Given the description of an element on the screen output the (x, y) to click on. 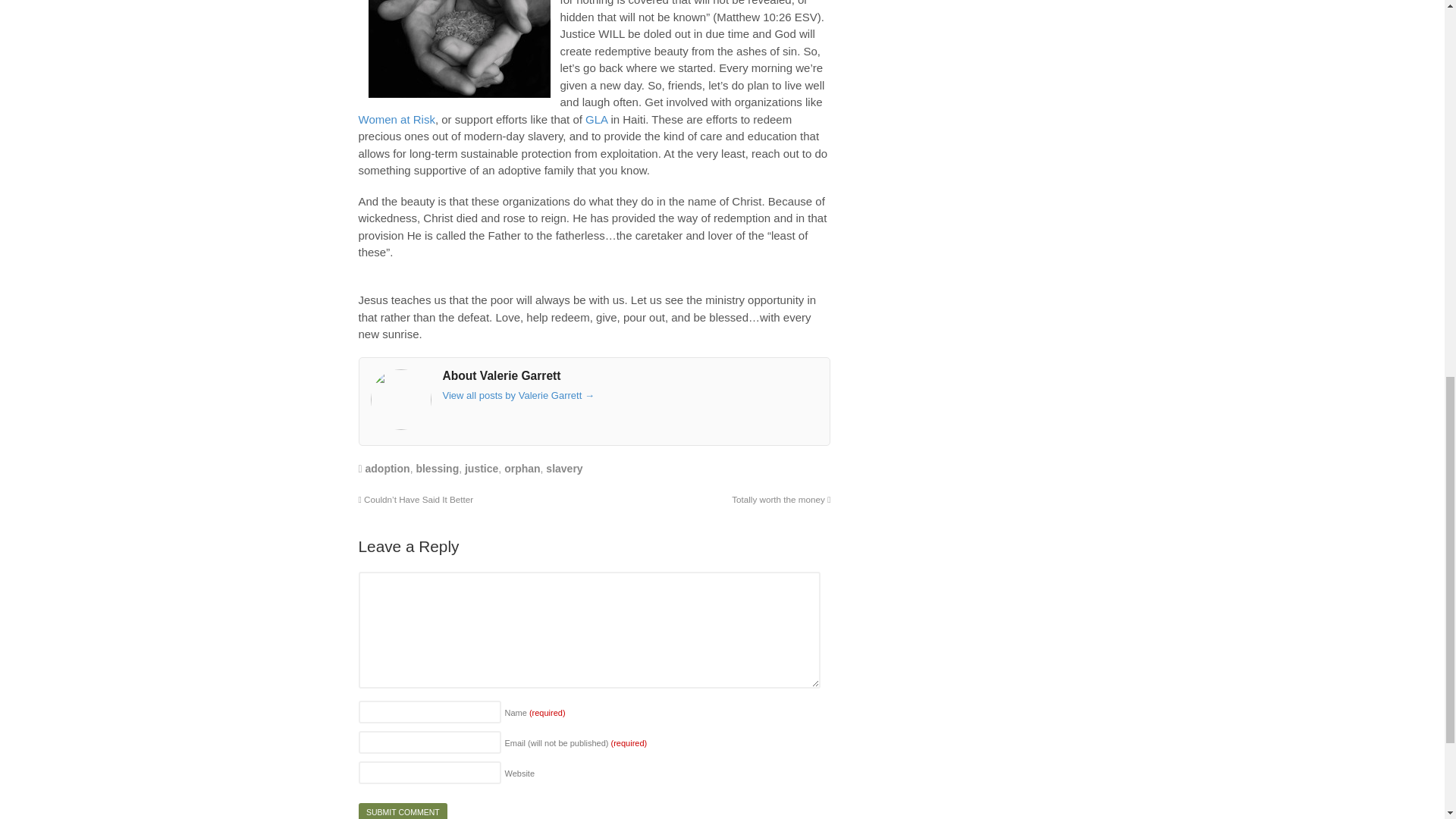
GLA (596, 119)
blessing (436, 468)
justice (480, 468)
Submit Comment (402, 811)
adoption (387, 468)
Submit Comment (402, 811)
Totally worth the money (780, 499)
slavery (564, 468)
Women at Risk (395, 119)
orphan (521, 468)
